Given the description of an element on the screen output the (x, y) to click on. 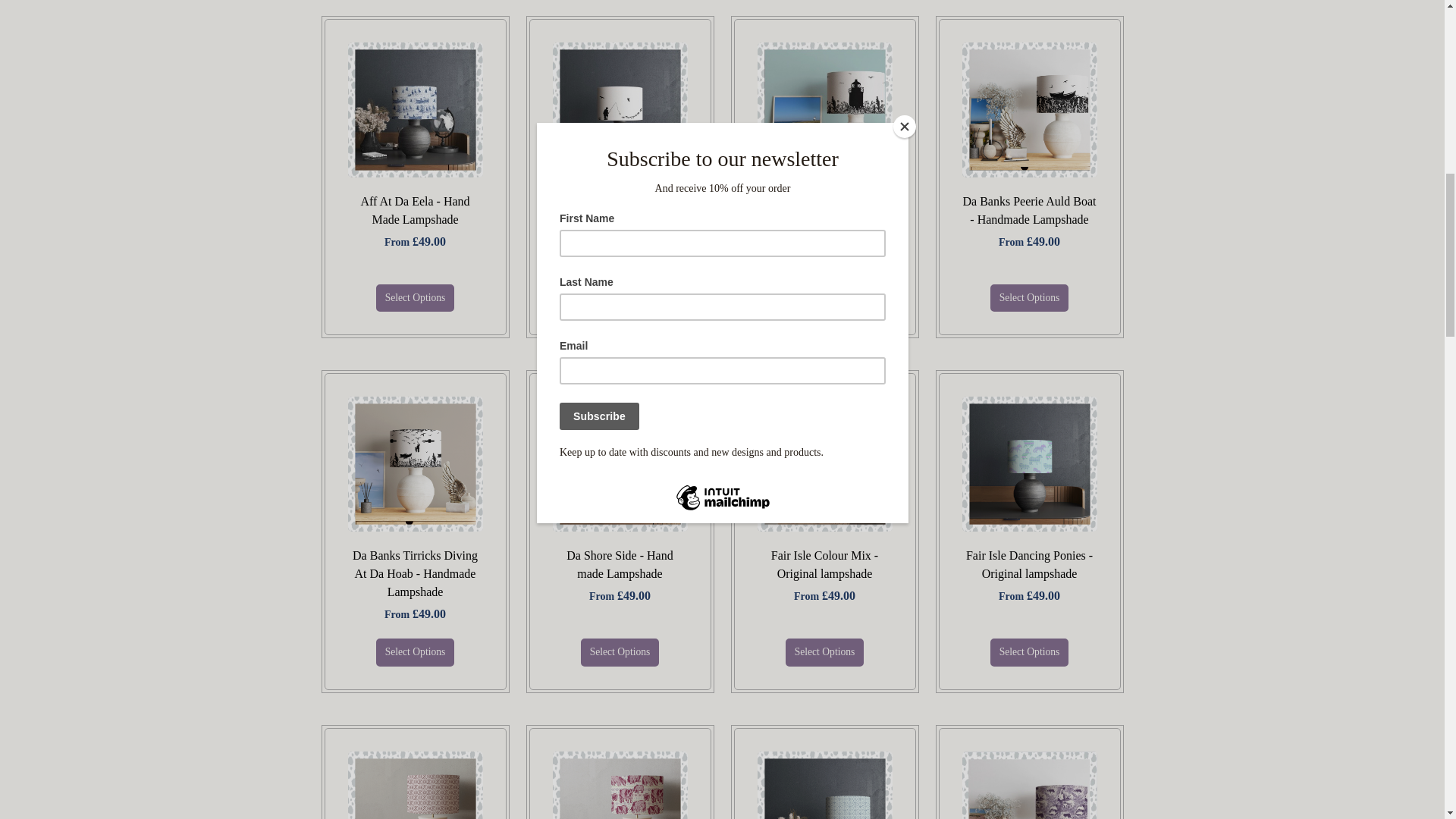
Aff At Da Eela - Hand Made Lampshade (413, 210)
Fair Isle Colour Mix - Original lampshade (824, 563)
Da Banks Tirricks Diving At Da Hoab - Handmade Lampshade (414, 573)
Da Banks Peerie Auld Boat - Handmade Lampshade (1029, 210)
Da Shore Side - Hand made Lampshade (619, 563)
Da Banks Auld Ligthhouse - Handmade Lampshade (824, 210)
